Given the description of an element on the screen output the (x, y) to click on. 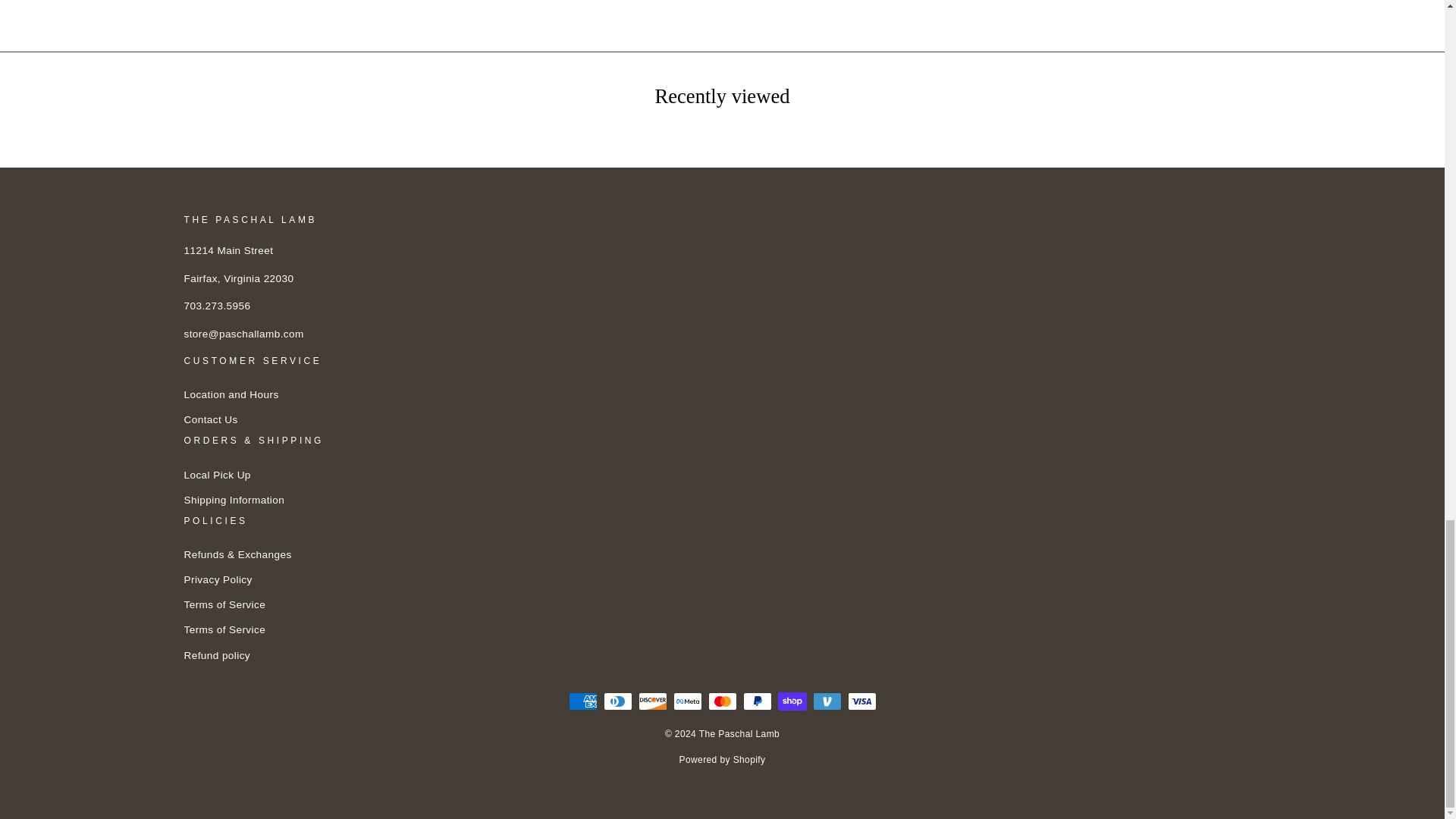
American Express (582, 701)
Contact Us (210, 419)
Meta Pay (686, 701)
Location and Hours (230, 395)
Mastercard (721, 701)
Discover (652, 701)
Venmo (826, 701)
PayPal (756, 701)
Diners Club (617, 701)
Shop Pay (791, 701)
Visa (861, 701)
